Given the description of an element on the screen output the (x, y) to click on. 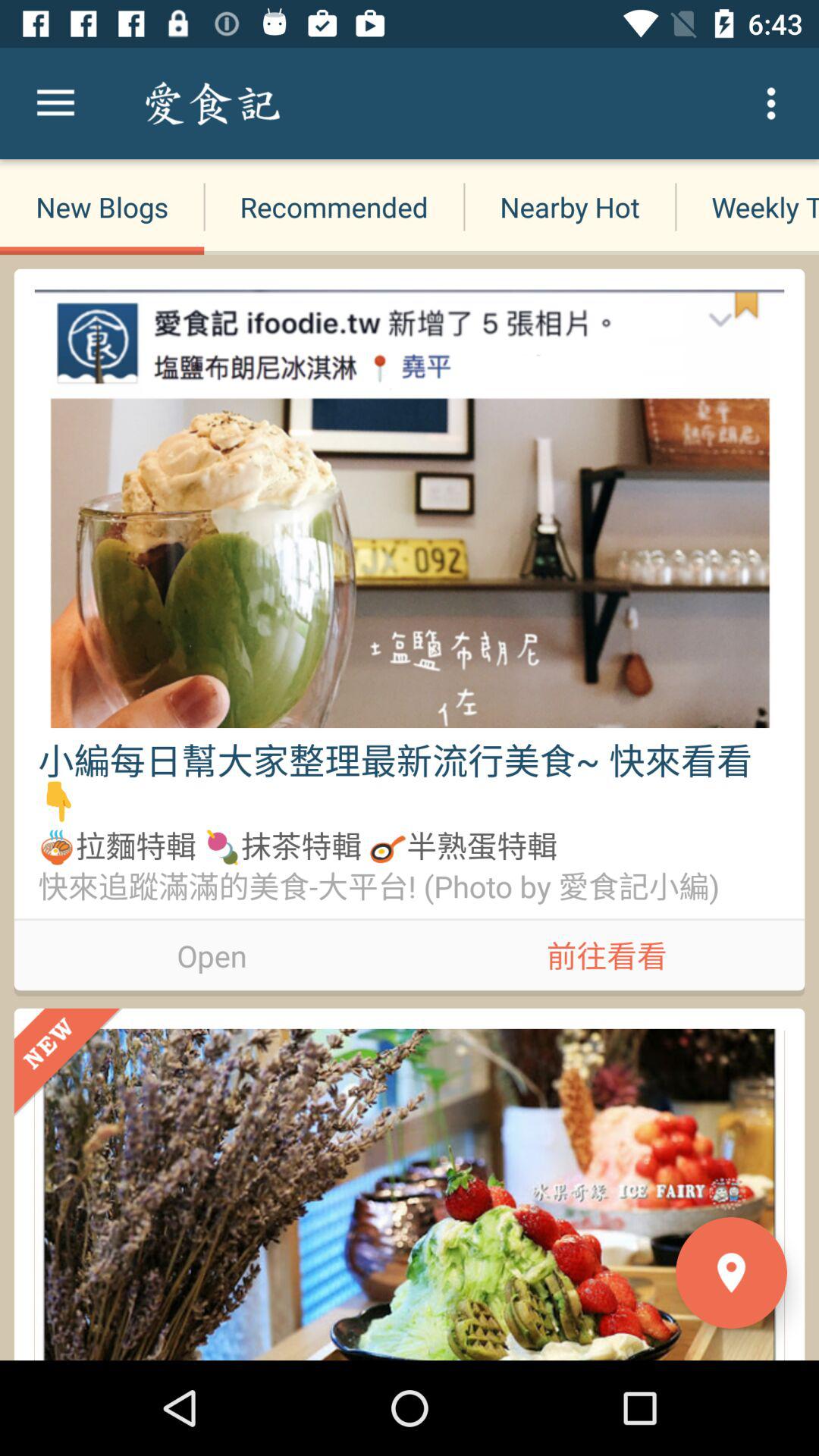
launch icon next to the nearby hot icon (334, 206)
